Given the description of an element on the screen output the (x, y) to click on. 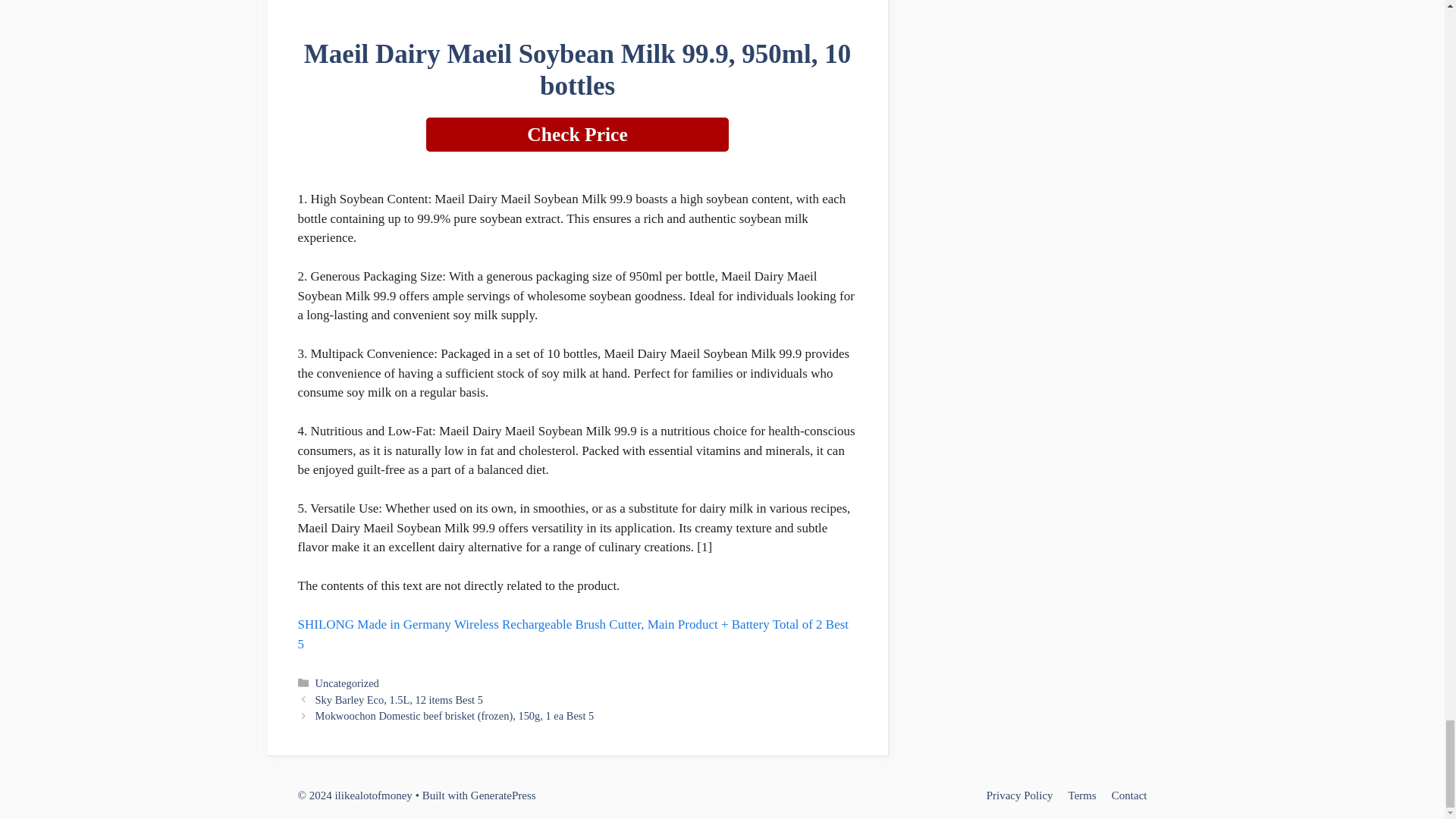
Check Price (577, 134)
Contact (1129, 795)
Uncategorized (346, 683)
Privacy Policy (1019, 795)
GeneratePress (502, 795)
Terms (1082, 795)
Sky Barley Eco, 1.5L, 12 items Best 5 (399, 699)
